Given the description of an element on the screen output the (x, y) to click on. 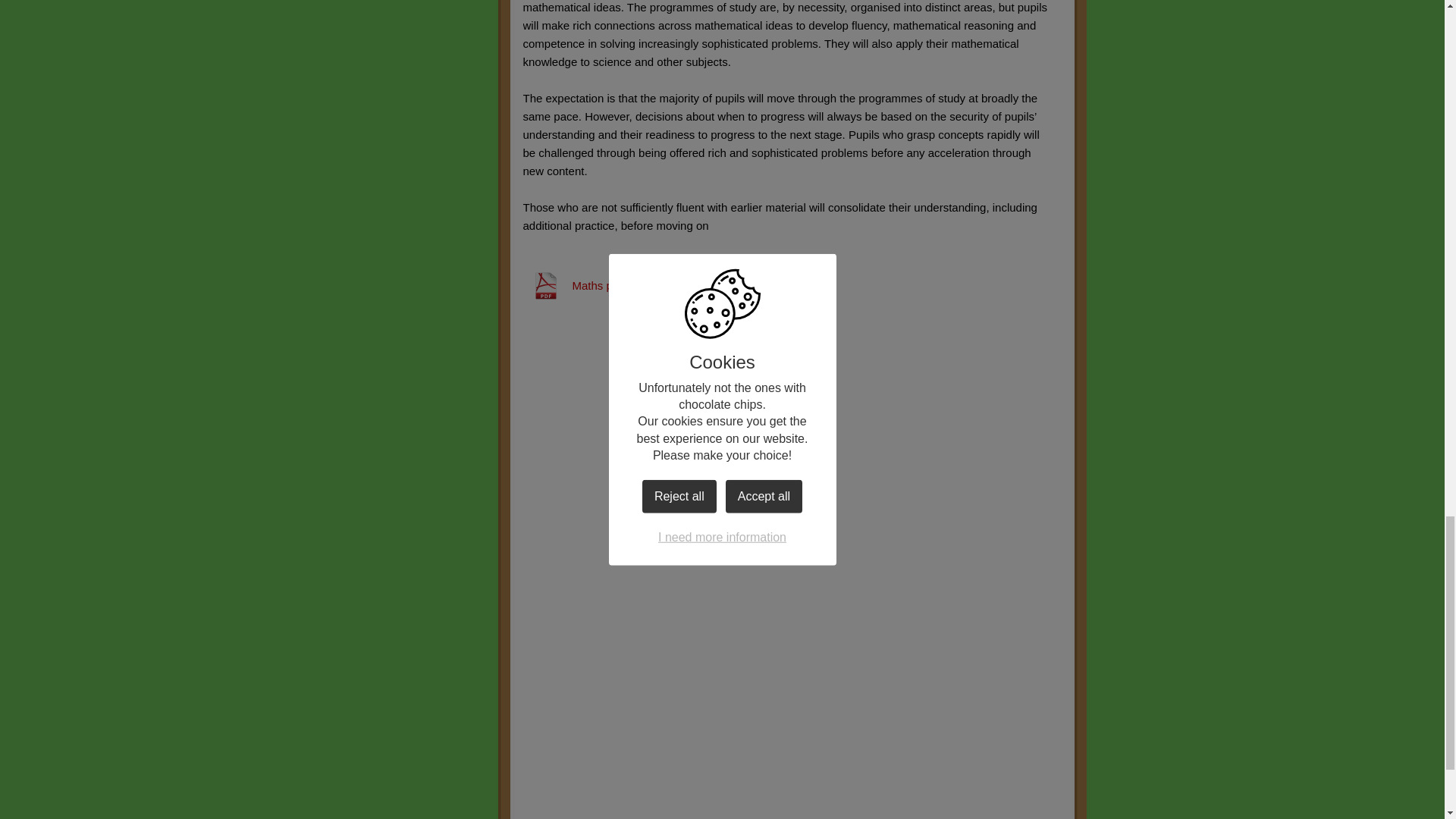
Maths progression Y1-Y6.pdf (620, 285)
Times Tables Rock Stars (787, 361)
